Given the description of an element on the screen output the (x, y) to click on. 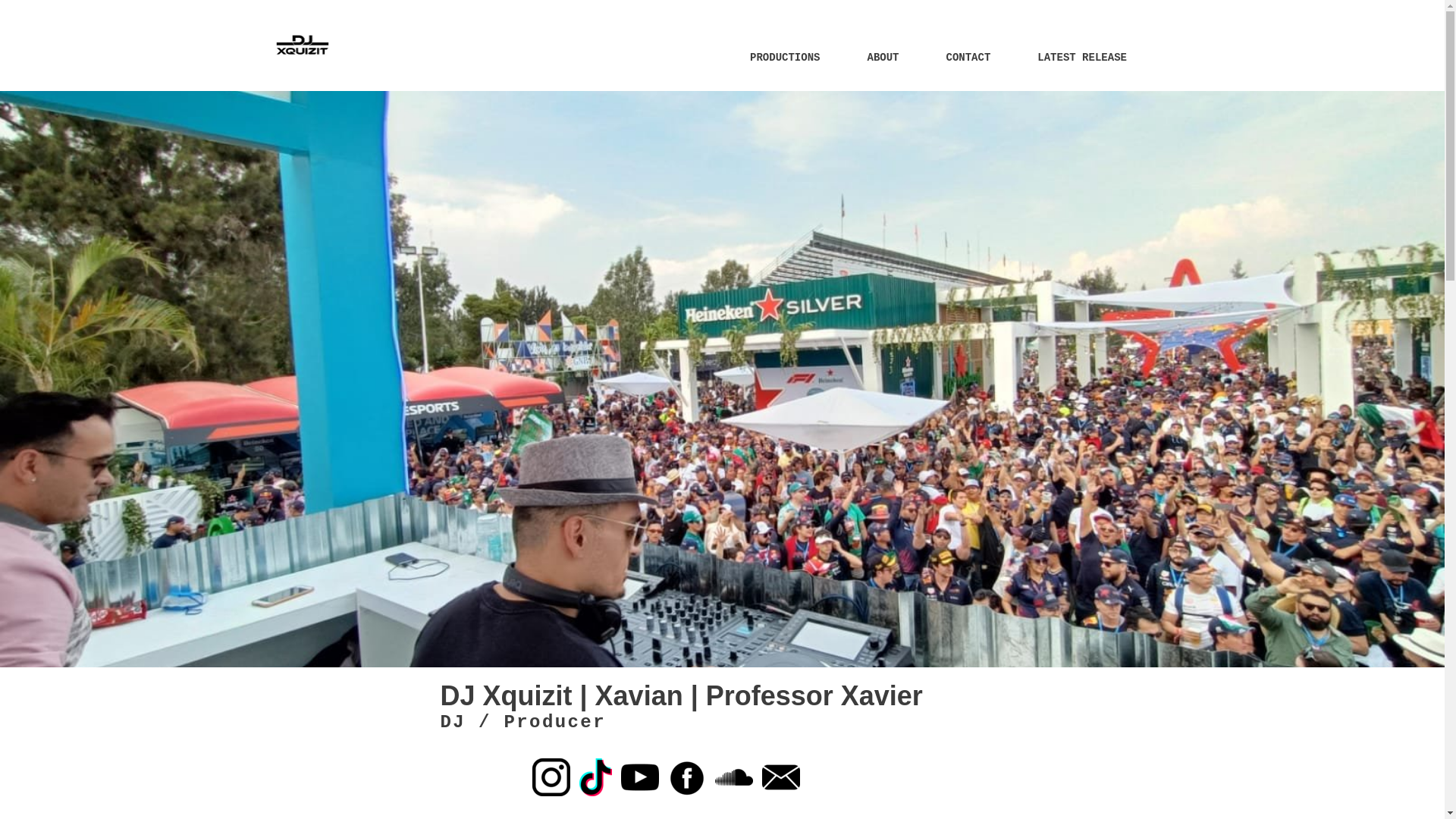
CONTACT (968, 66)
LATEST RELEASE (1082, 66)
PRODUCTIONS (784, 66)
ABOUT (882, 66)
